Given the description of an element on the screen output the (x, y) to click on. 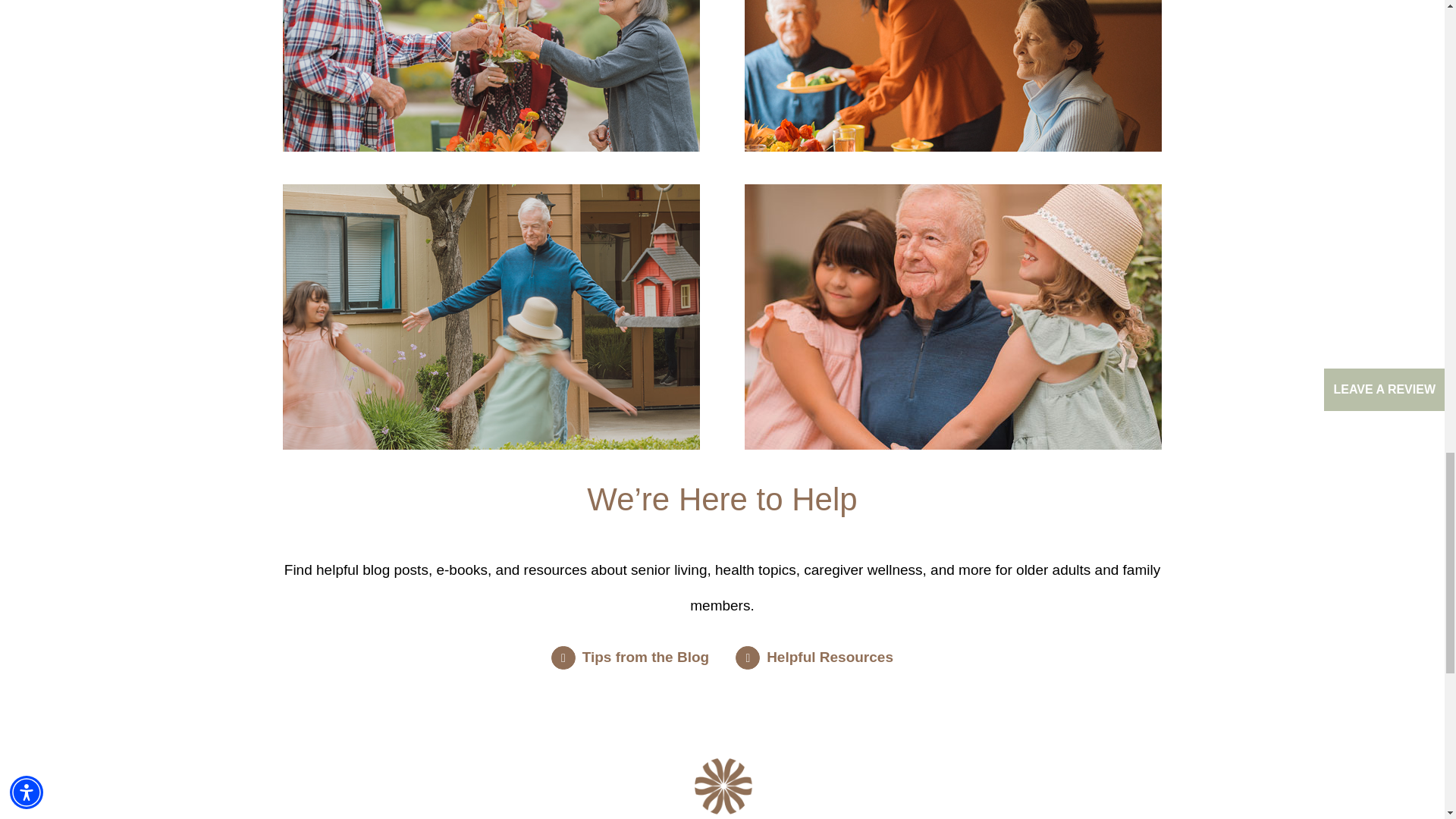
amenities-youll-love (491, 75)
amenities-youll-love-4 (952, 316)
amenities-youll-love-2 (952, 75)
amenities-youll-love-3 (491, 316)
summerfield-of-redlands (722, 788)
